Given the description of an element on the screen output the (x, y) to click on. 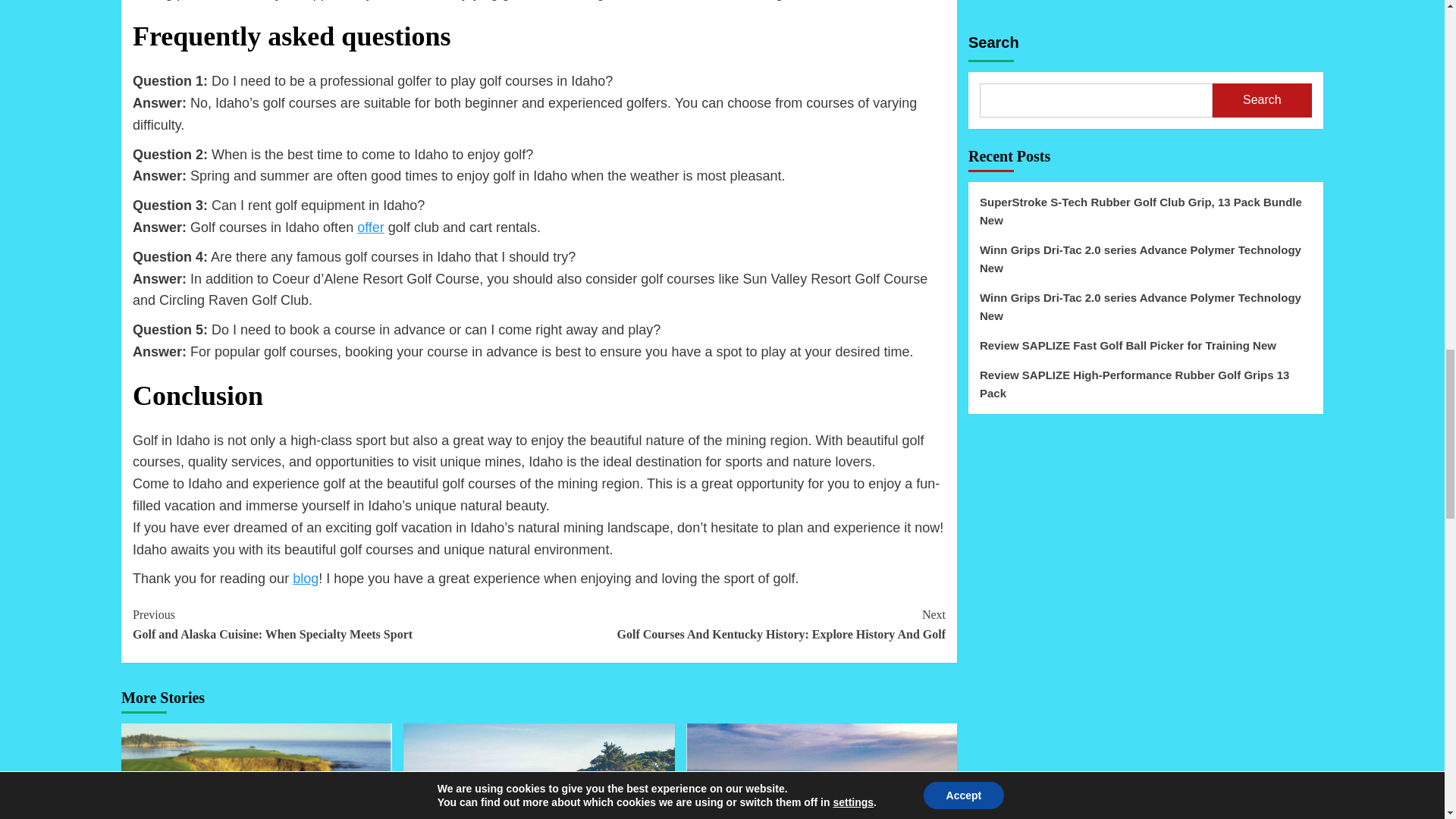
offer (370, 227)
blog (305, 578)
